Given the description of an element on the screen output the (x, y) to click on. 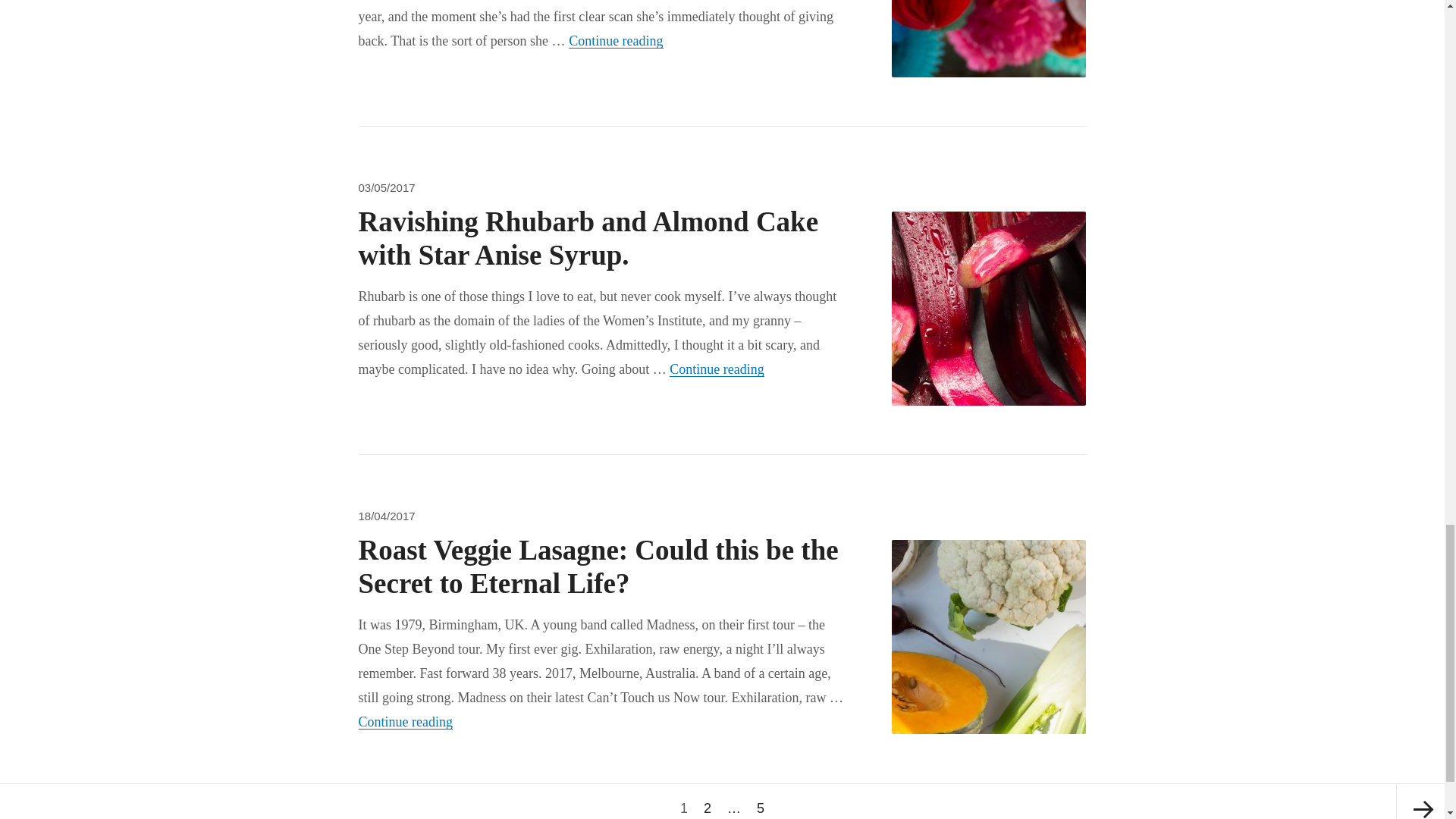
Ravishing Rhubarb and Almond Cake with Star Anise Syrup. (588, 238)
